Given the description of an element on the screen output the (x, y) to click on. 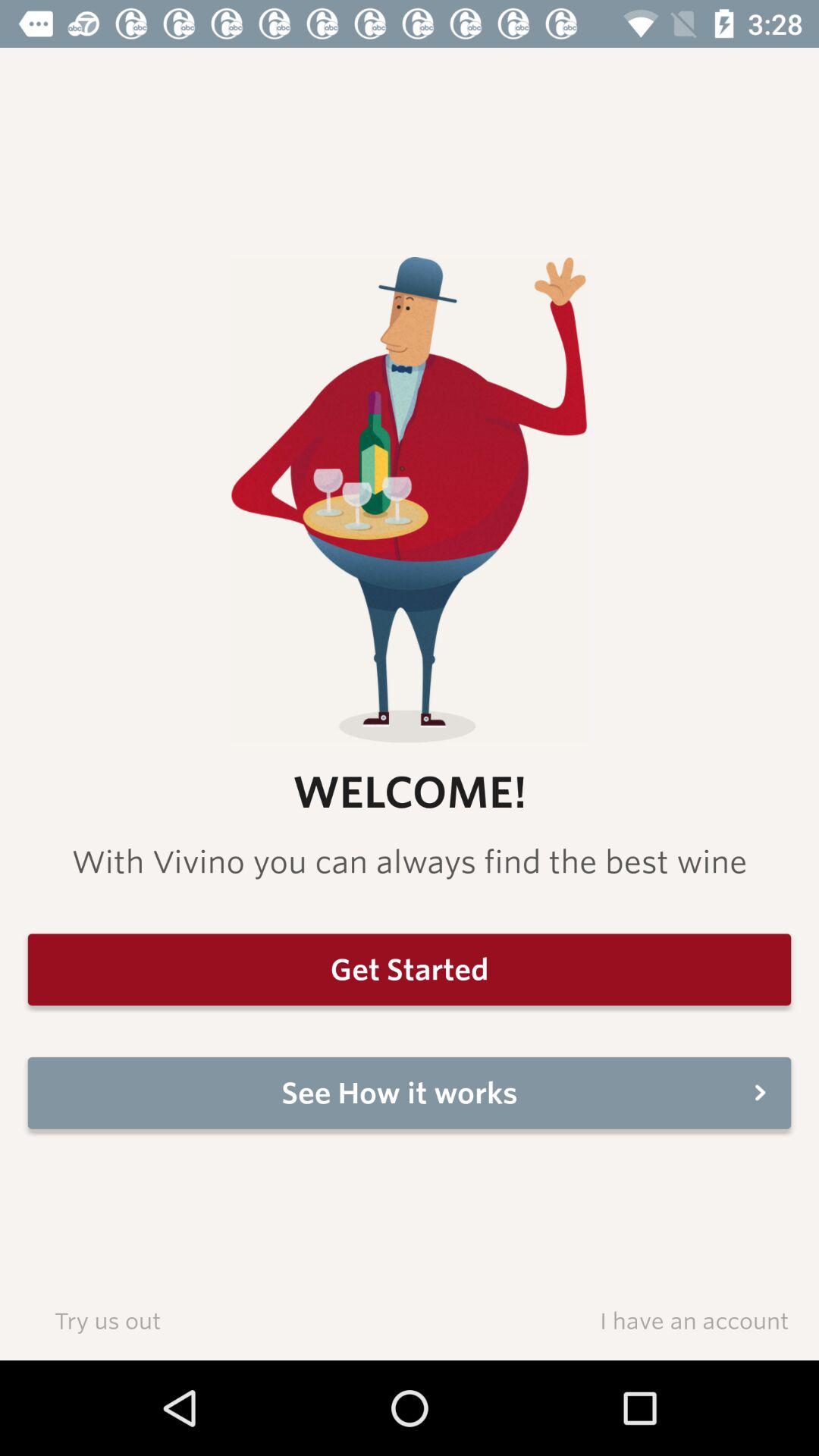
open item below with vivino you (409, 969)
